Given the description of an element on the screen output the (x, y) to click on. 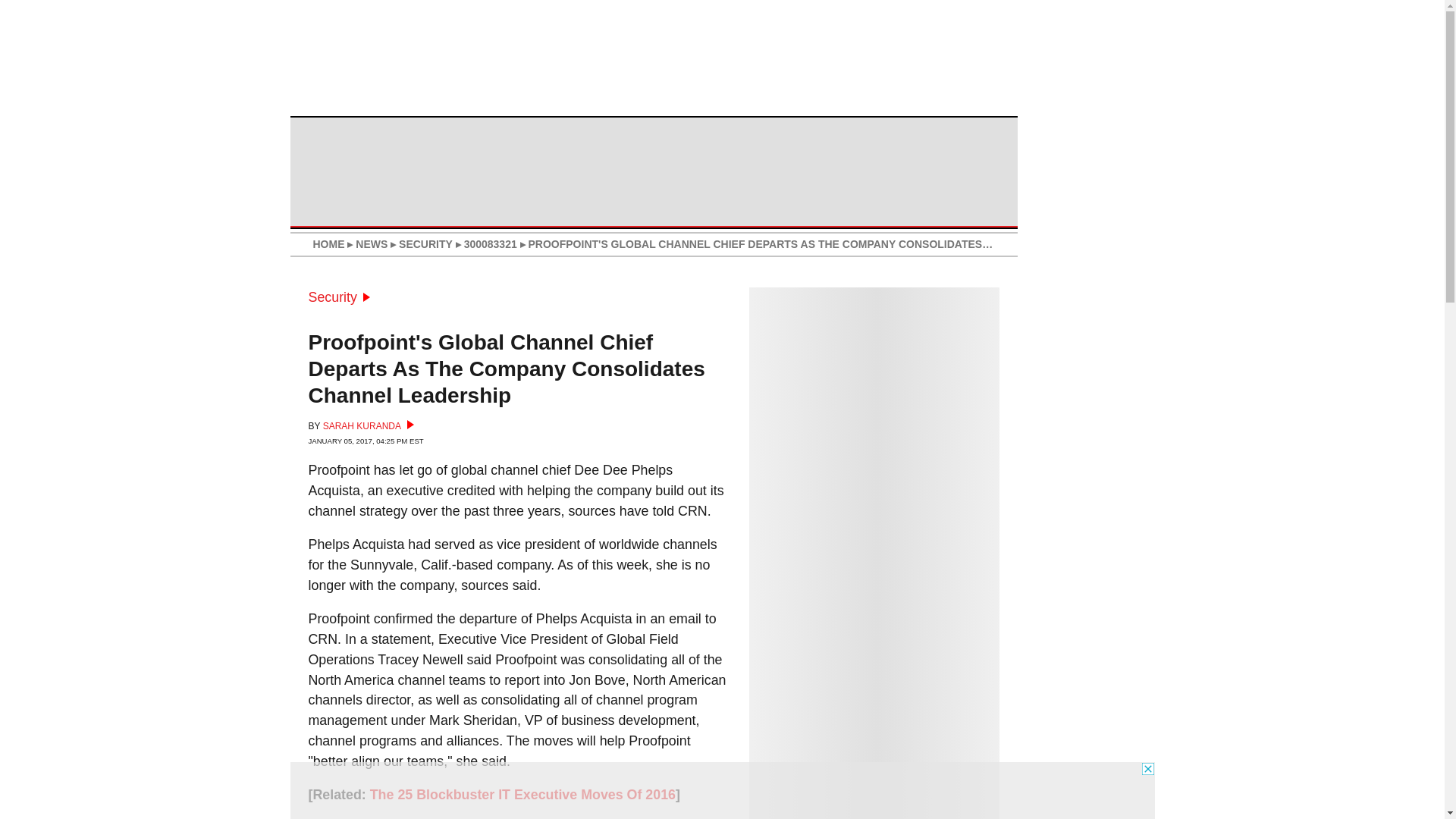
Security (338, 296)
HOME (328, 244)
The 25 Blockbuster IT Executive Moves Of 2016 (522, 794)
The 25 Blockbuster IT Executive Moves Of 2016 (522, 794)
Security (338, 296)
SARAH KURANDA (368, 425)
